Given the description of an element on the screen output the (x, y) to click on. 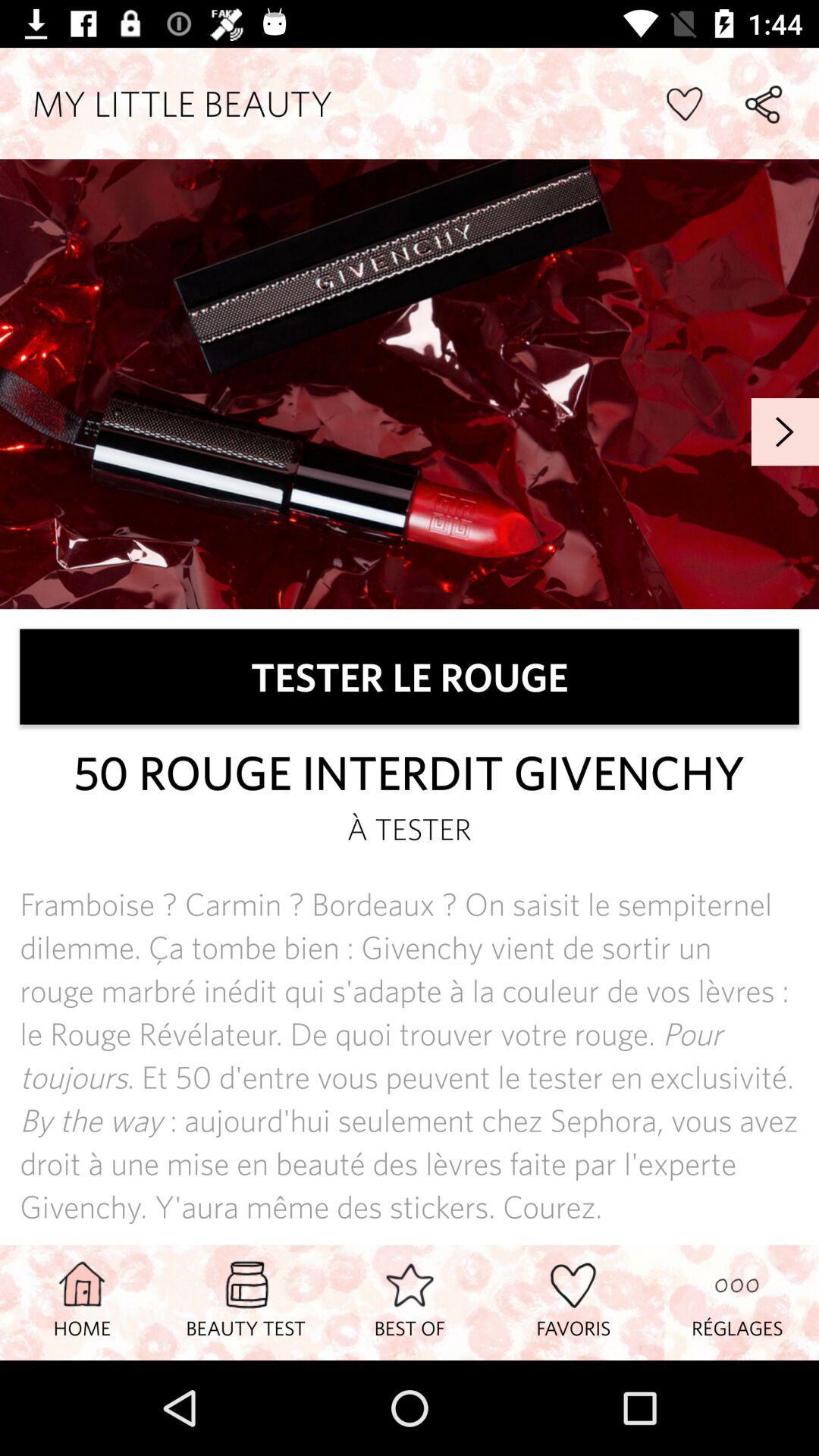
flip to tester le rouge icon (409, 676)
